Given the description of an element on the screen output the (x, y) to click on. 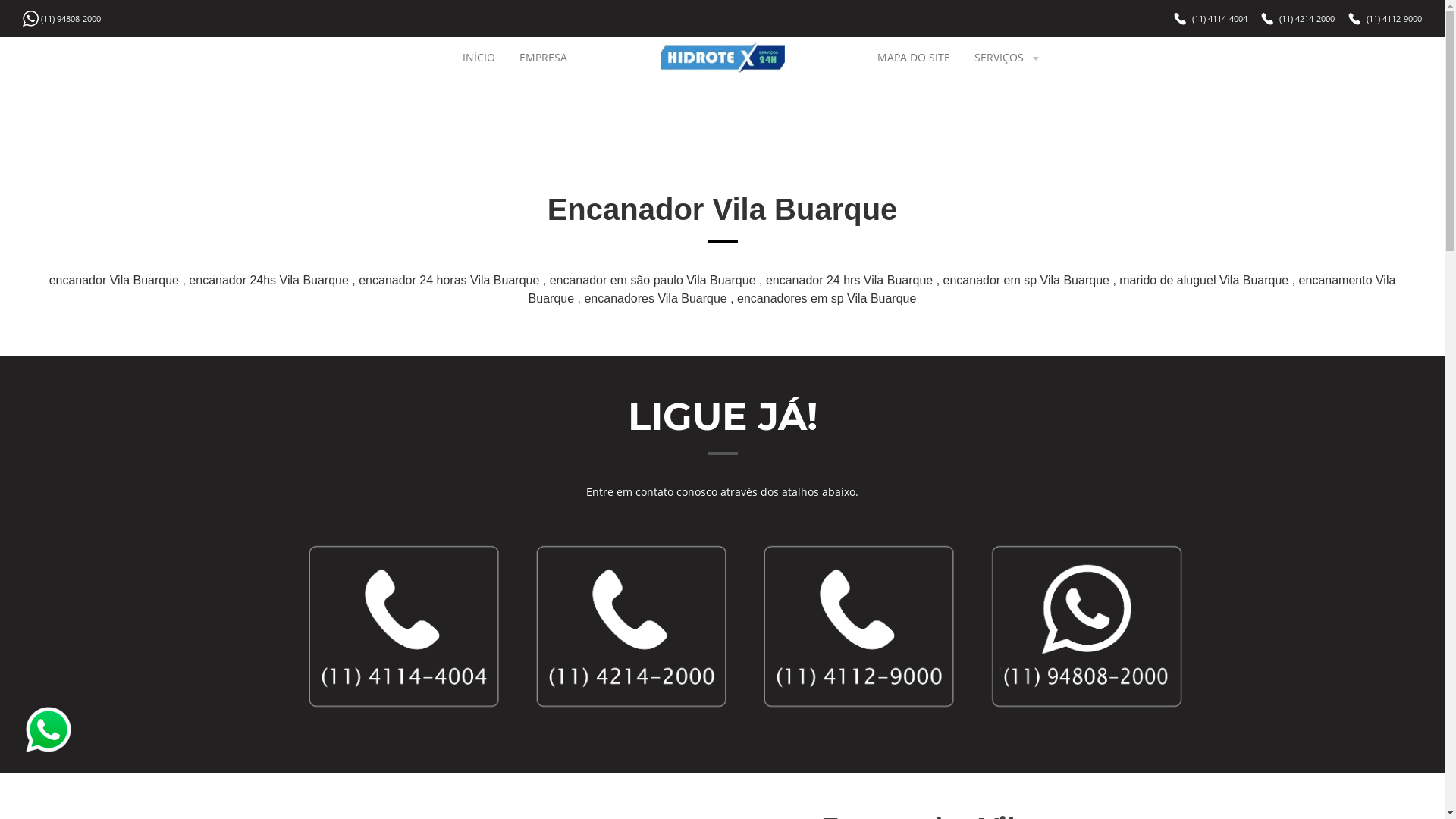
(11) 4112-9000 Element type: text (1393, 18)
MAPA DO SITE Element type: text (913, 57)
(11) 4214-2000 Element type: text (1306, 18)
EMPRESA Element type: text (543, 57)
(11) 94808-2000 Element type: text (70, 18)
(11) 4114-4004 Element type: text (1219, 18)
